Given the description of an element on the screen output the (x, y) to click on. 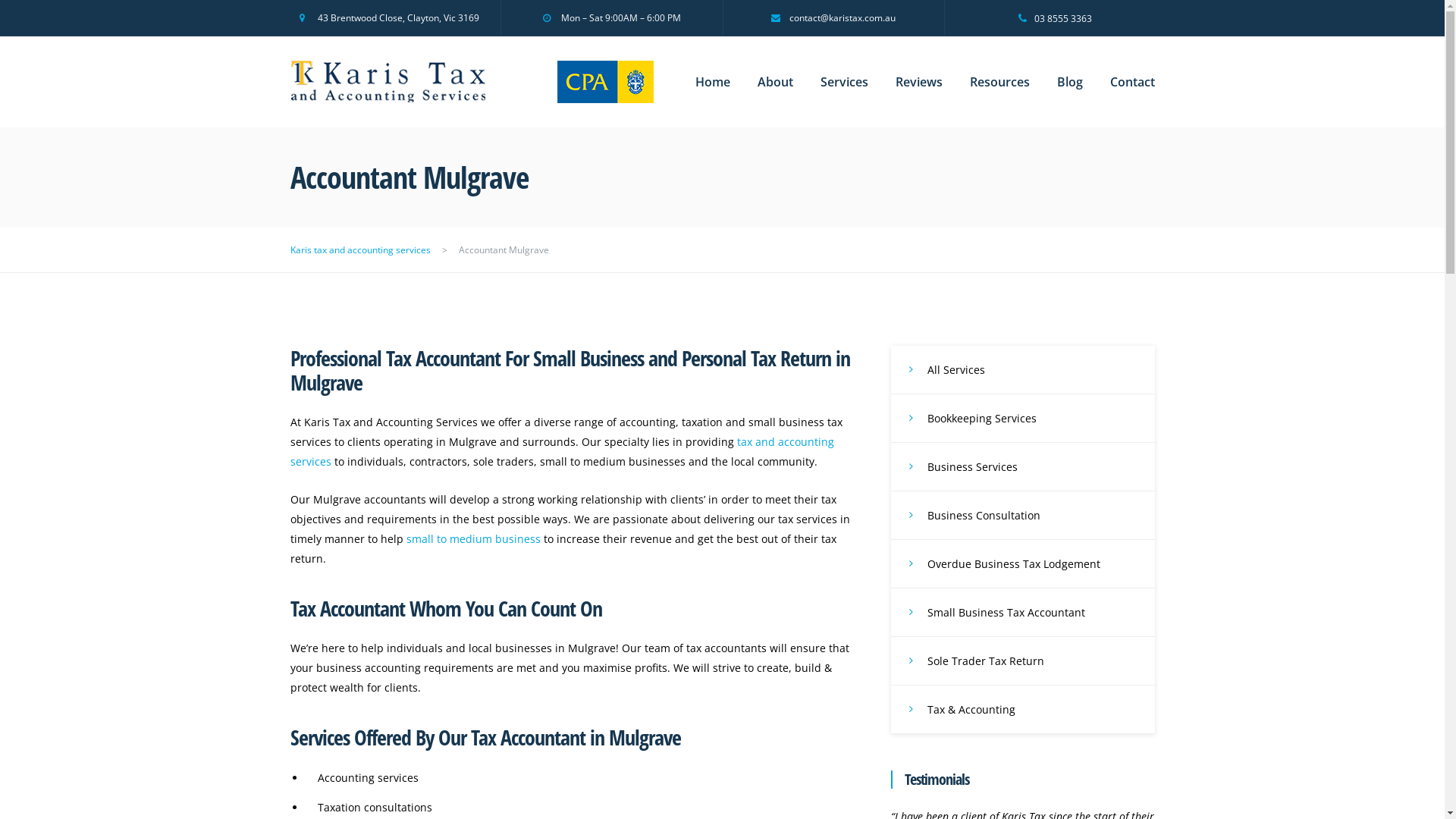
Bookkeeping Services Element type: text (1022, 418)
Karis tax and accounting services Element type: text (364, 249)
Resources Element type: text (999, 81)
About Element type: text (774, 81)
Small Business Tax Accountant Element type: text (1022, 612)
All Services Element type: text (1022, 369)
Reviews Element type: text (917, 81)
Blog Element type: text (1069, 81)
Services Element type: text (844, 81)
Overdue Business Tax Lodgement Element type: text (1022, 563)
Business Consultation Element type: text (1022, 515)
Home Element type: text (711, 81)
small to medium business Element type: text (473, 538)
Sole Trader Tax Return Element type: text (1022, 660)
tax and accounting services Element type: text (561, 451)
Tax & Accounting Element type: text (1022, 709)
Business Services Element type: text (1022, 466)
contact@karistax.com.au Element type: text (833, 17)
Contact Element type: text (1132, 81)
